Given the description of an element on the screen output the (x, y) to click on. 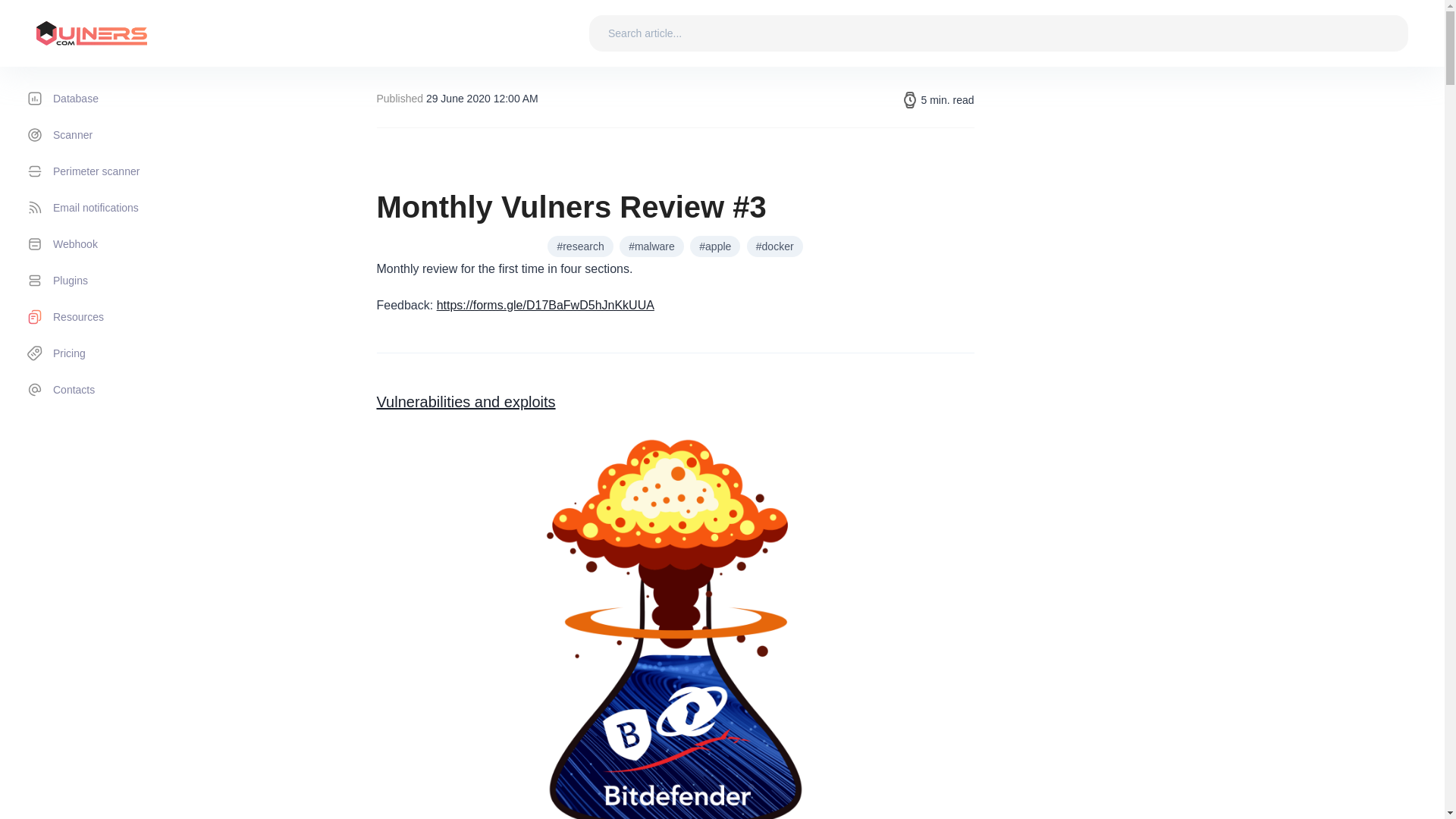
Email notifications (107, 207)
Webhook (107, 244)
Contacts (107, 389)
Pricing (107, 352)
Resources (107, 316)
Perimeter scanner (107, 171)
Scanner (107, 135)
Plugins (107, 280)
Vulnerabilities and exploits (464, 401)
Database (107, 98)
